Given the description of an element on the screen output the (x, y) to click on. 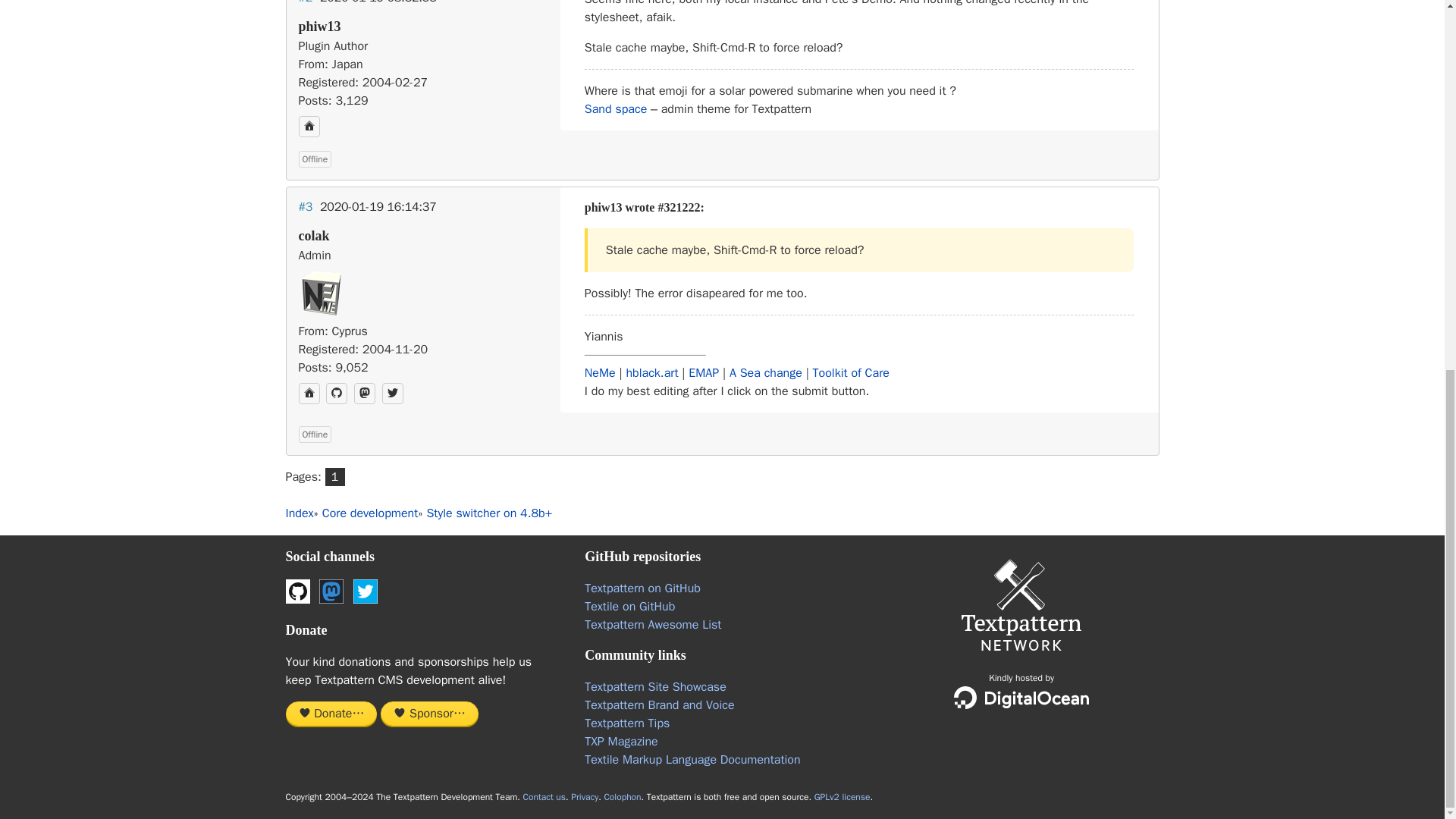
Go to the DigitalOcean website (1021, 697)
Website (309, 393)
Website (309, 126)
2020-01-19 08:32:53 (378, 2)
Website (309, 126)
Follow us on Twitter (365, 591)
Sand space (615, 109)
GitHub (336, 393)
Follow us on GitHub (296, 591)
GitHub (336, 393)
